Given the description of an element on the screen output the (x, y) to click on. 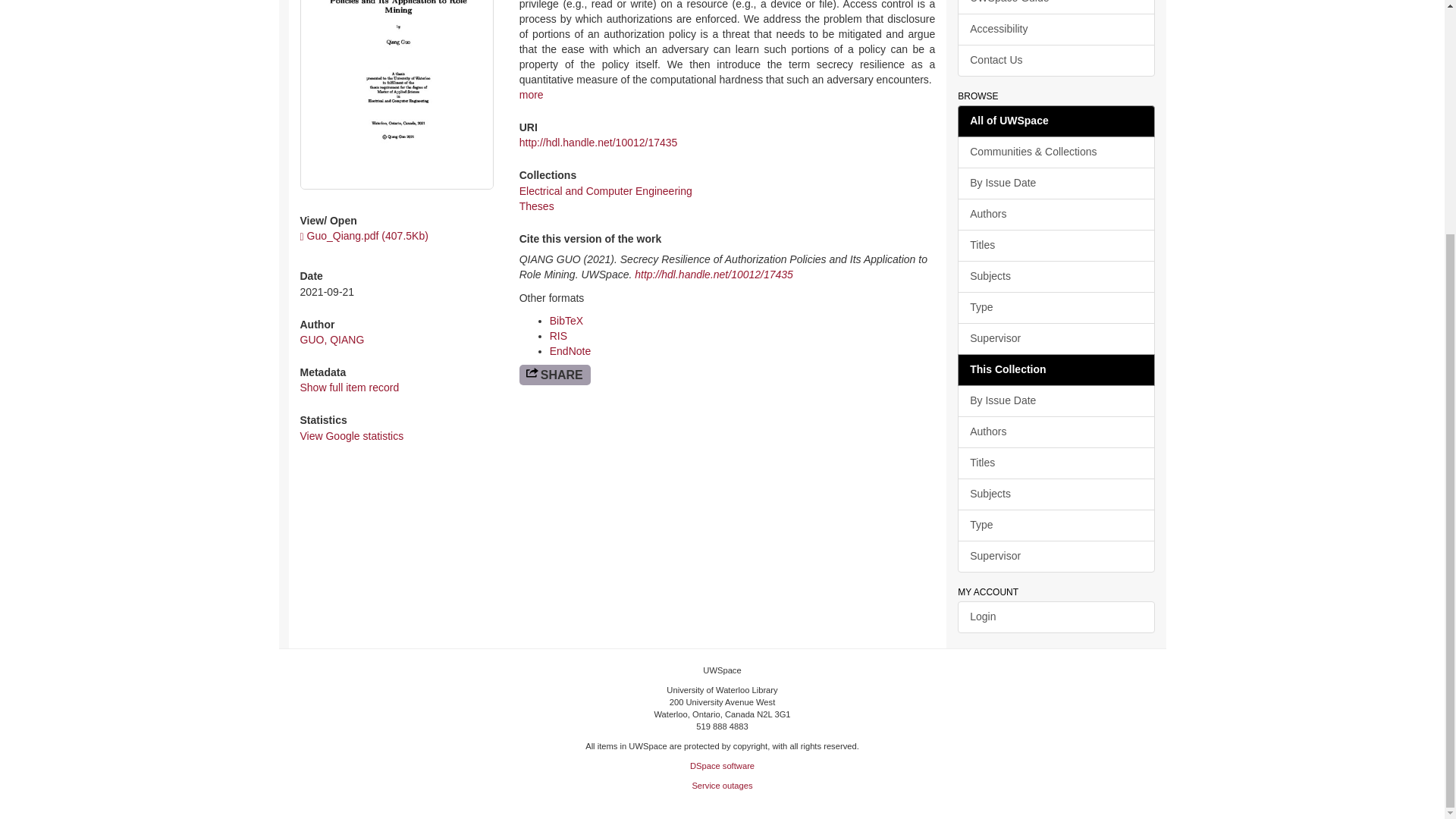
Accessibility (1056, 29)
EndNote (570, 350)
Electrical and Computer Engineering (606, 191)
Show full item record (348, 387)
Contact Us (1056, 60)
UWSpace Guide (1056, 7)
GUO, QIANG (332, 339)
more (531, 94)
RIS (558, 336)
View Google statistics (351, 435)
BibTeX (566, 320)
Theses (536, 205)
